Given the description of an element on the screen output the (x, y) to click on. 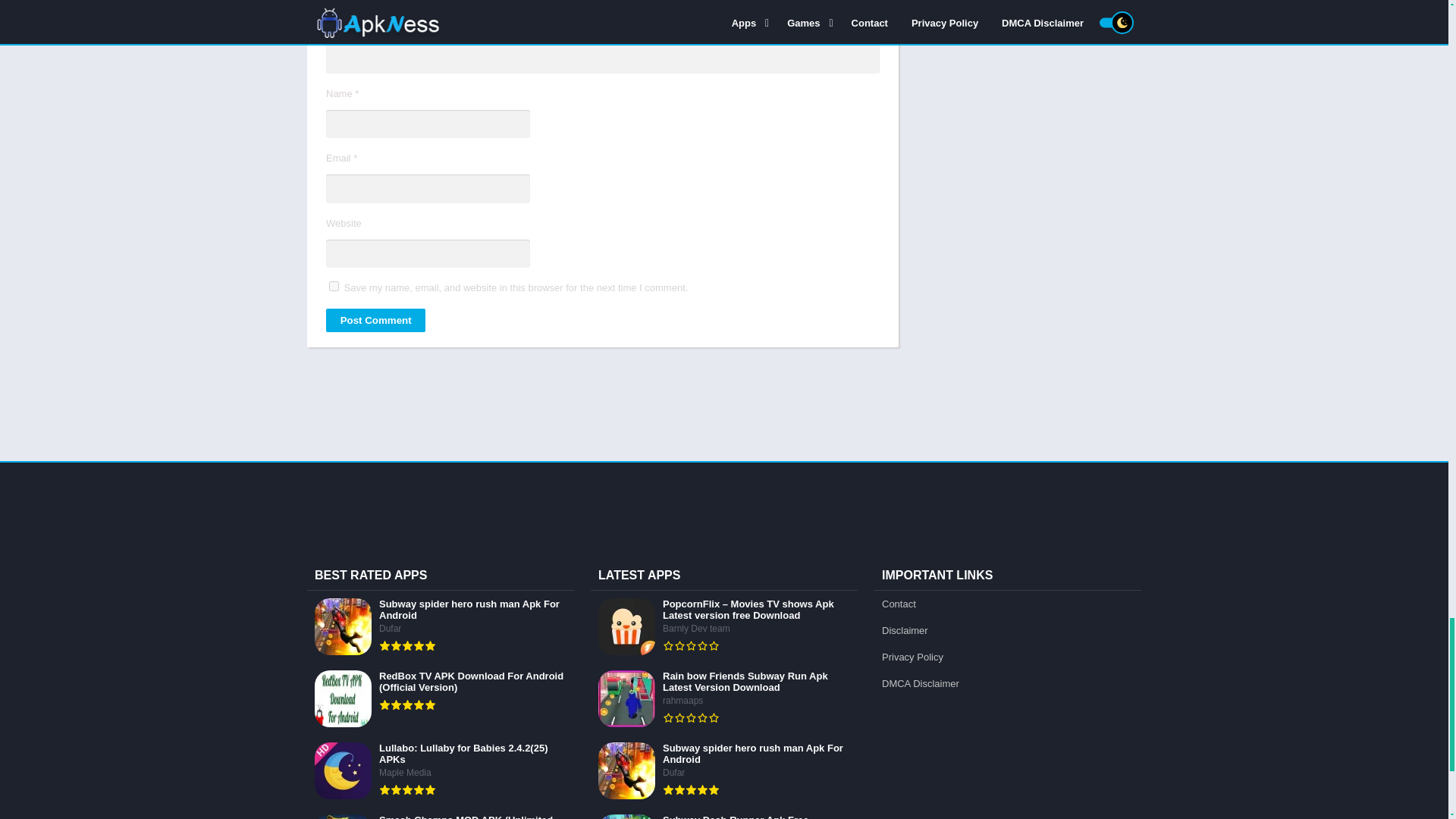
yes (334, 286)
Post Comment (375, 320)
